Given the description of an element on the screen output the (x, y) to click on. 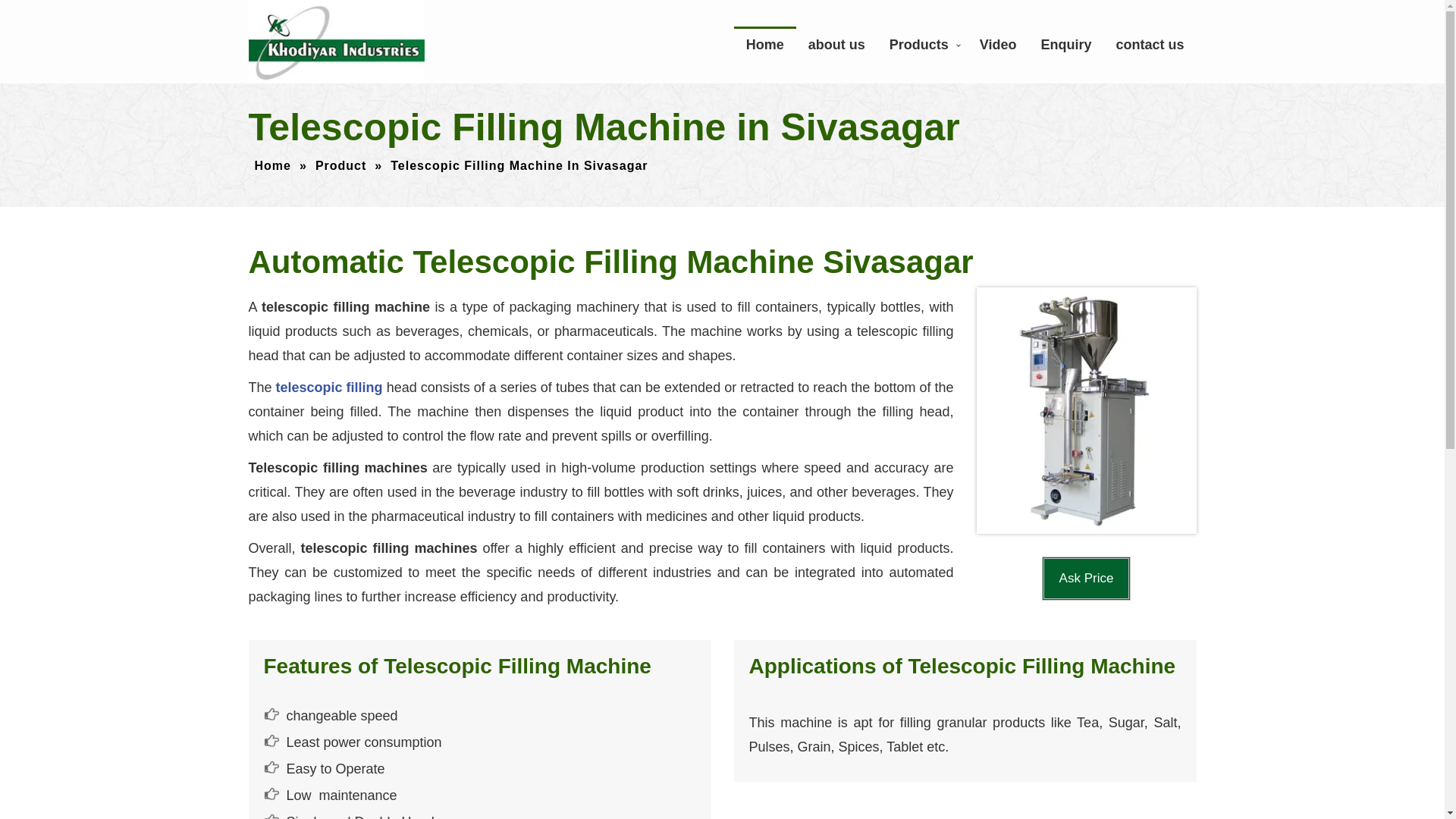
Products (922, 44)
Video (998, 44)
Home (272, 164)
Product (340, 164)
Ask Price (1086, 578)
Home (764, 44)
contact us (1149, 44)
Enquiry (1065, 44)
about us (836, 44)
telescopic filling (329, 387)
